Given the description of an element on the screen output the (x, y) to click on. 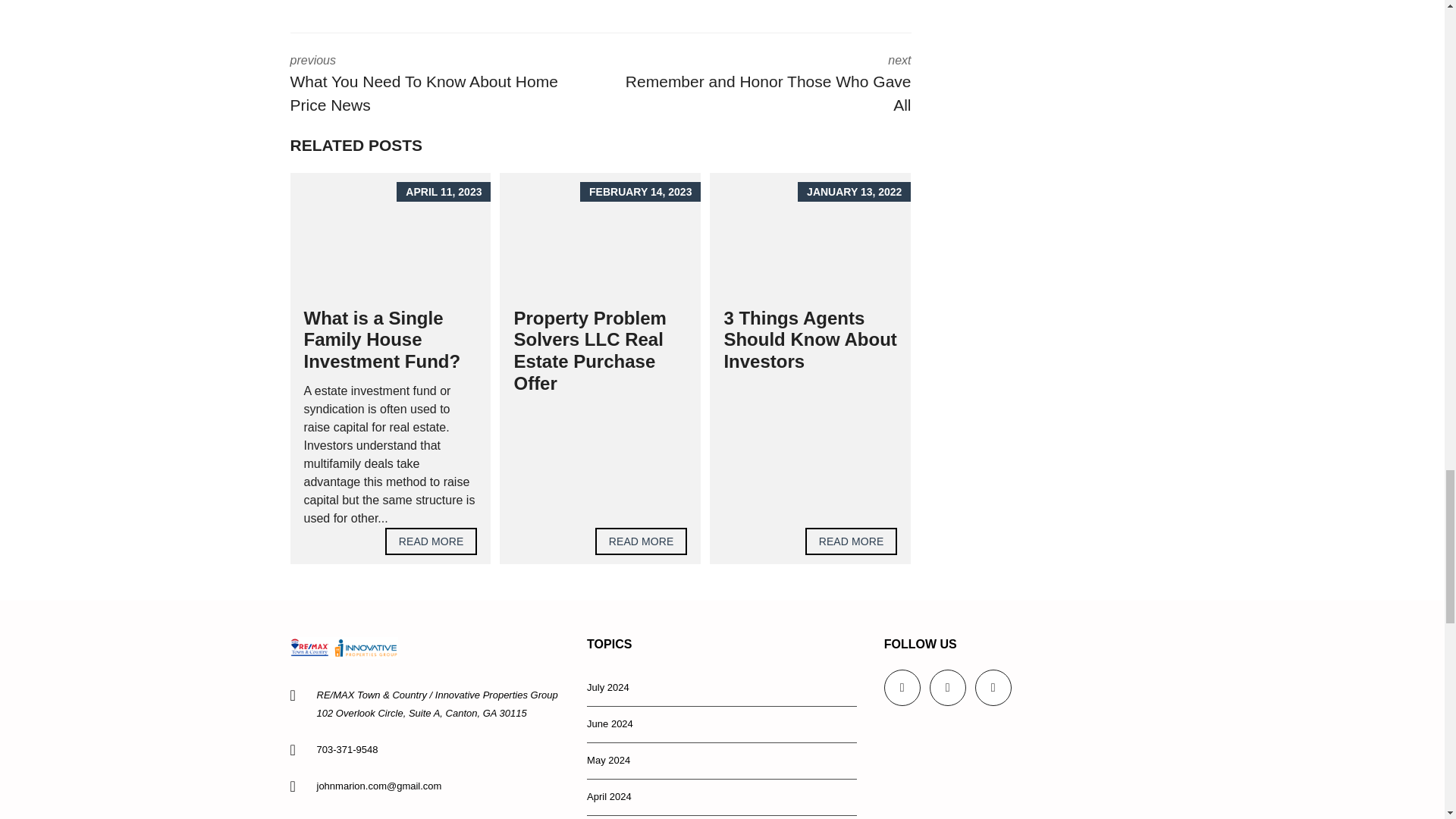
3 Things Agents Should Know About Investors (851, 541)
READ MORE (431, 541)
3 Things Agents Should Know About Investors (809, 339)
What is a Single Family House Investment Fund? (381, 339)
READ MORE (641, 541)
May 2024 (721, 760)
July 2024 (721, 687)
3 Things Agents Should Know About Investors (767, 85)
READ MORE (809, 339)
703-371-9548 (851, 541)
FEBRUARY 14, 2023 (347, 749)
Property Problem Solvers LLC Real Estate Purchase Offer (599, 235)
Property Problem Solvers LLC Real Estate Purchase Offer (589, 350)
APRIL 11, 2023 (641, 541)
